Given the description of an element on the screen output the (x, y) to click on. 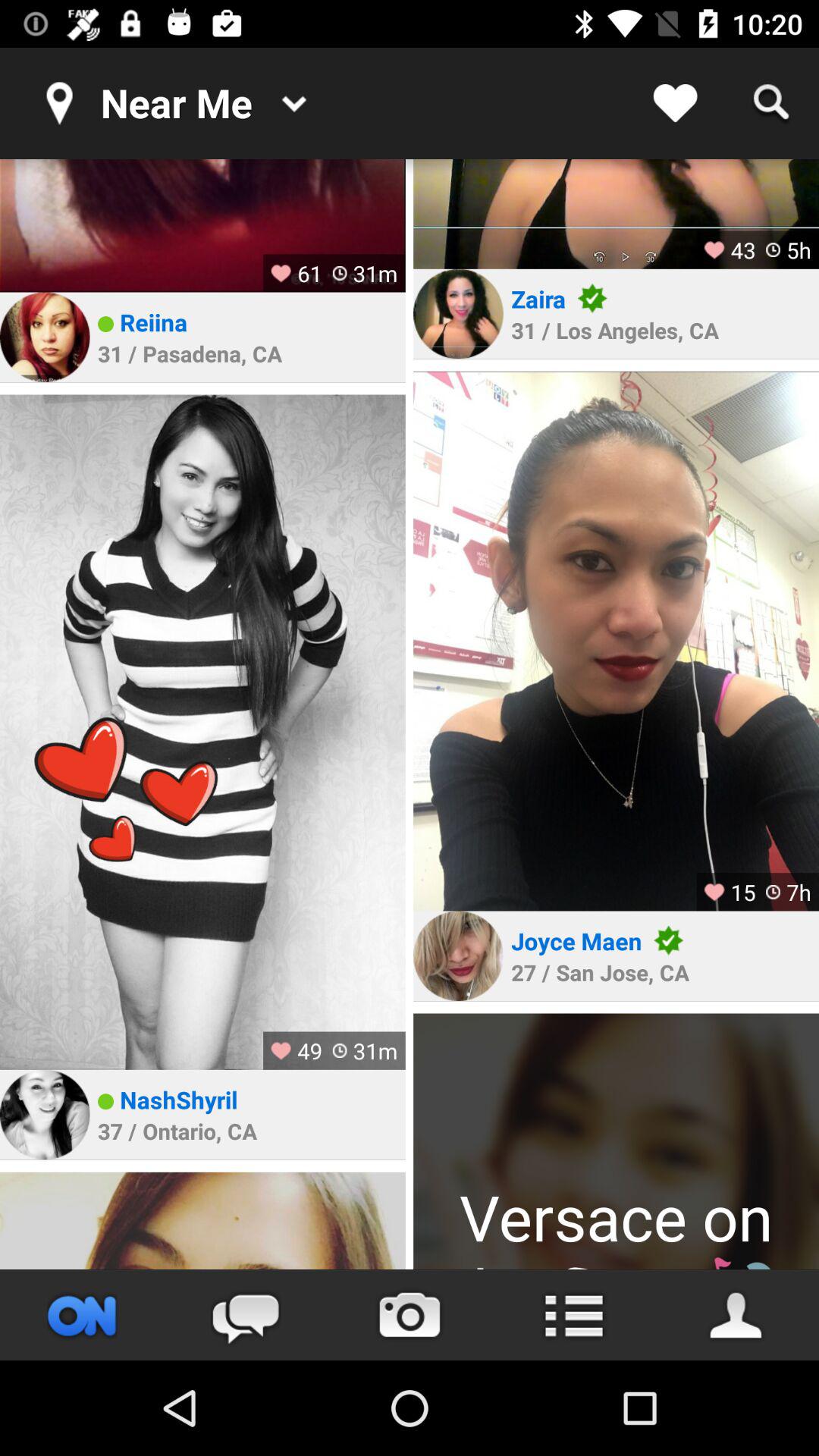
take photo button (409, 1315)
